Given the description of an element on the screen output the (x, y) to click on. 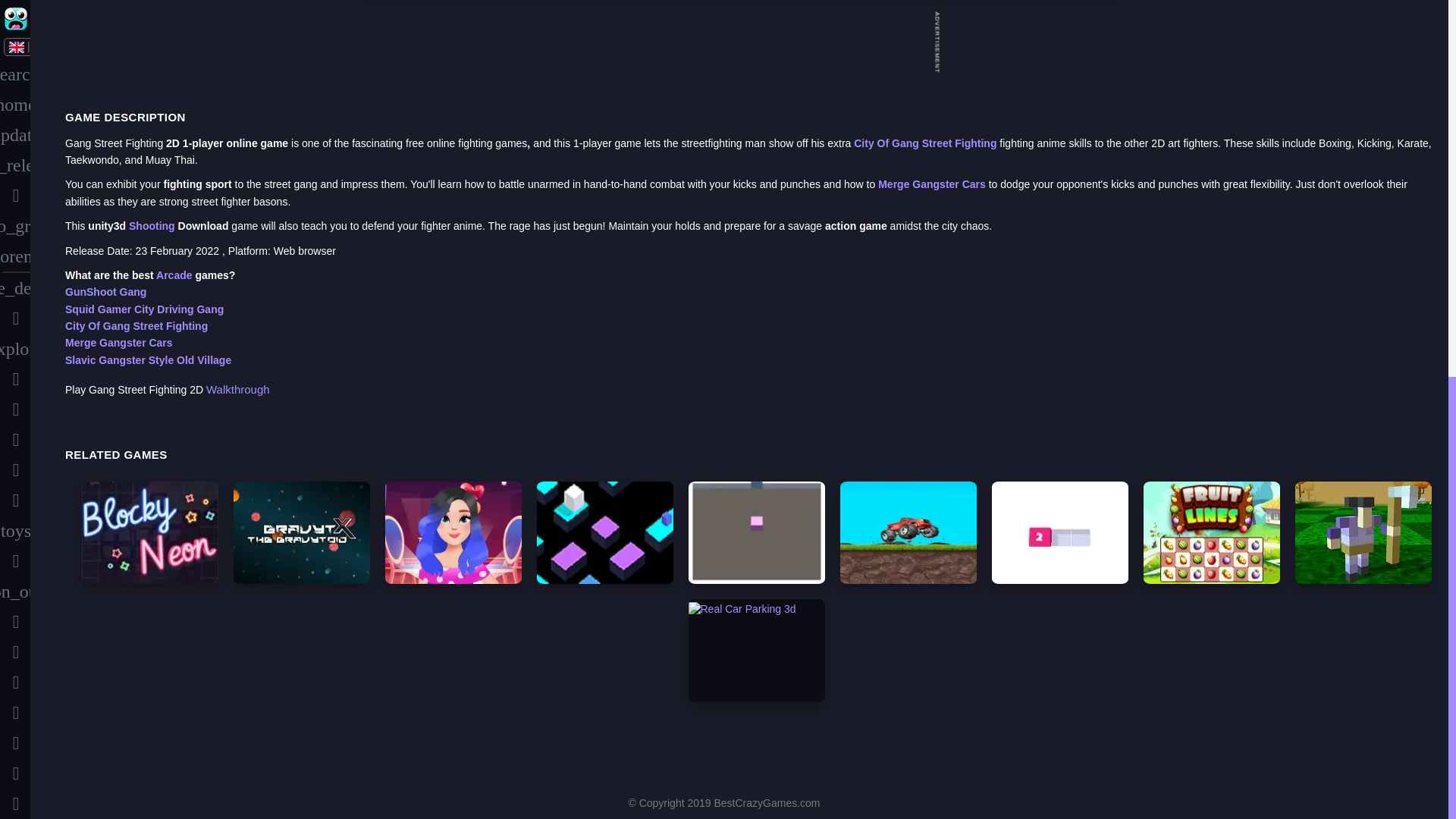
tag (15, 502)
fort (15, 288)
motorcycle (15, 440)
